Given the description of an element on the screen output the (x, y) to click on. 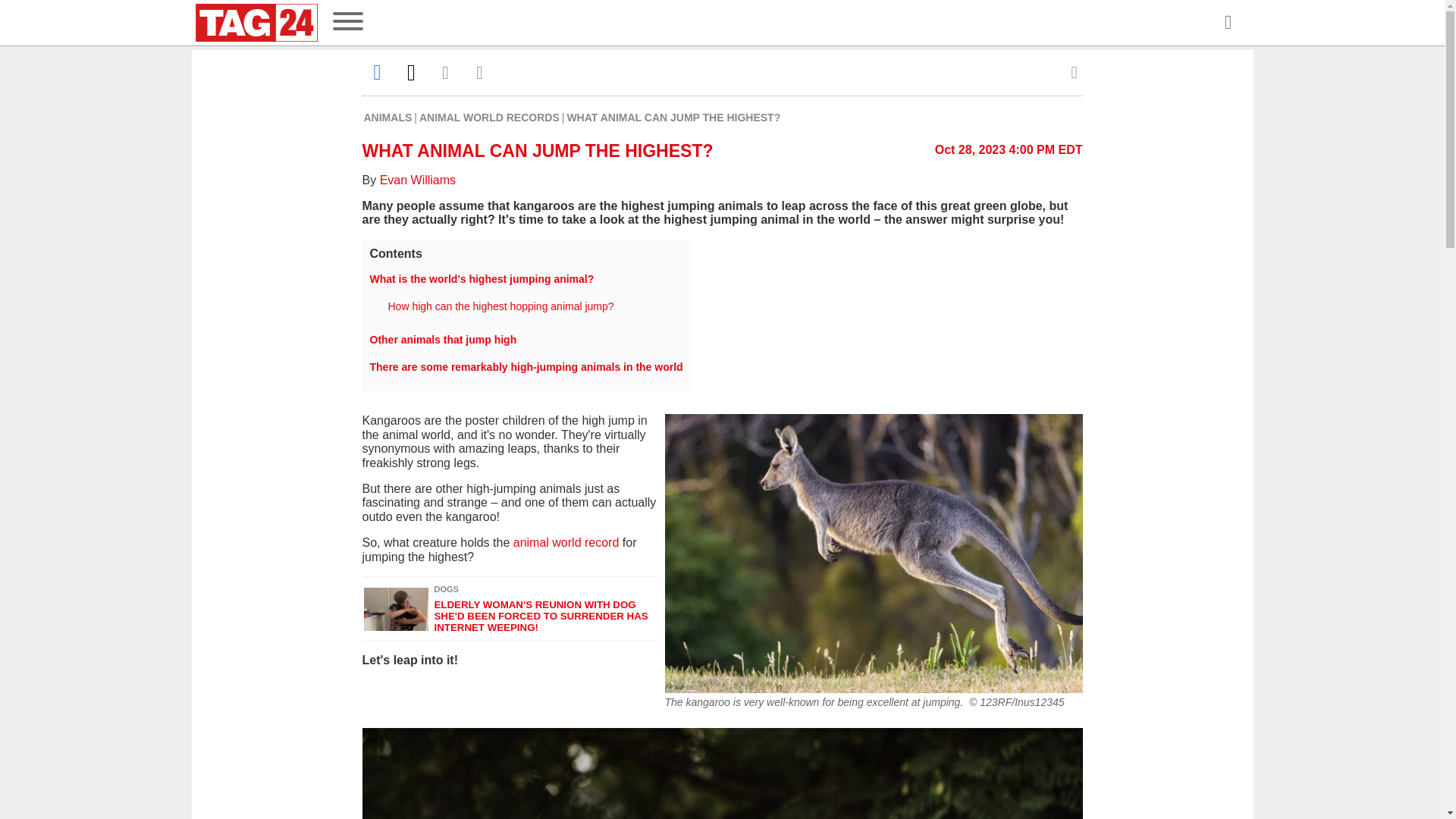
Copy link (479, 72)
ANIMALS (388, 117)
There are some remarkably high-jumping animals in the world (525, 367)
Open search (1227, 22)
What is the world's highest jumping animal? (481, 278)
Share on Twitter (411, 72)
Share via mail (445, 72)
Evan Williams (417, 179)
animal world record (566, 542)
Share on Facebook (377, 72)
Other animals that jump high (442, 339)
How high can the highest hopping animal jump? (501, 306)
menu (347, 22)
ANIMAL WORLD RECORDS (489, 117)
